Given the description of an element on the screen output the (x, y) to click on. 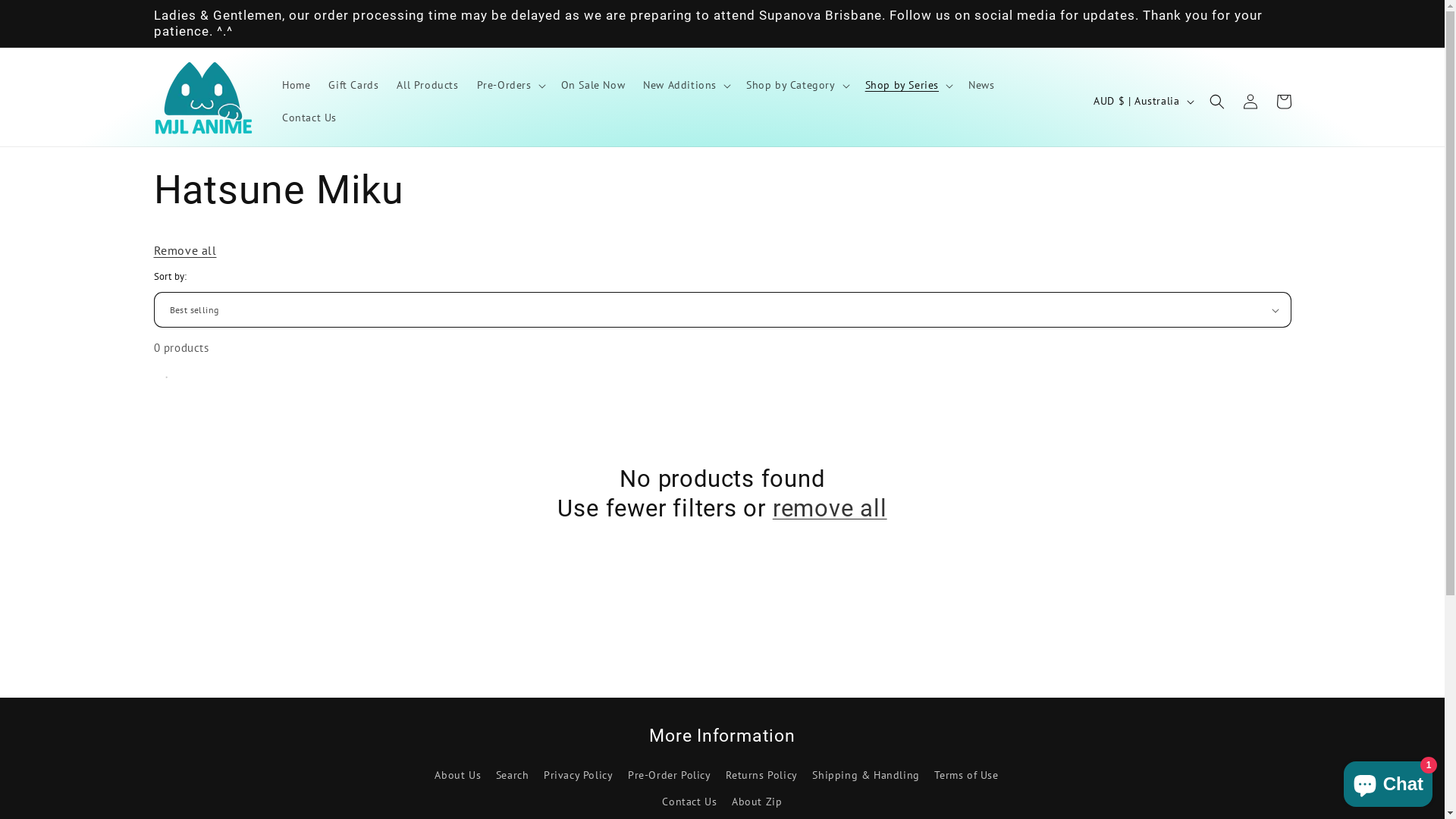
Shopify online store chat Element type: hover (1388, 780)
AUD $ | Australia Element type: text (1141, 101)
Terms of Use Element type: text (965, 775)
Privacy Policy Element type: text (577, 775)
Shipping & Handling Element type: text (865, 775)
Home Element type: text (296, 84)
Contact Us Element type: text (309, 117)
Pre-Order Policy Element type: text (669, 775)
On Sale Now Element type: text (593, 84)
Cart Element type: text (1282, 101)
Gift Cards Element type: text (353, 84)
remove all Element type: text (829, 508)
Log in Element type: text (1249, 101)
Remove all Element type: text (184, 249)
Returns Policy Element type: text (761, 775)
Contact Us Element type: text (689, 801)
About Zip Element type: text (756, 801)
News Element type: text (981, 84)
Search Element type: text (512, 775)
All Products Element type: text (427, 84)
About Us Element type: text (457, 776)
